Given the description of an element on the screen output the (x, y) to click on. 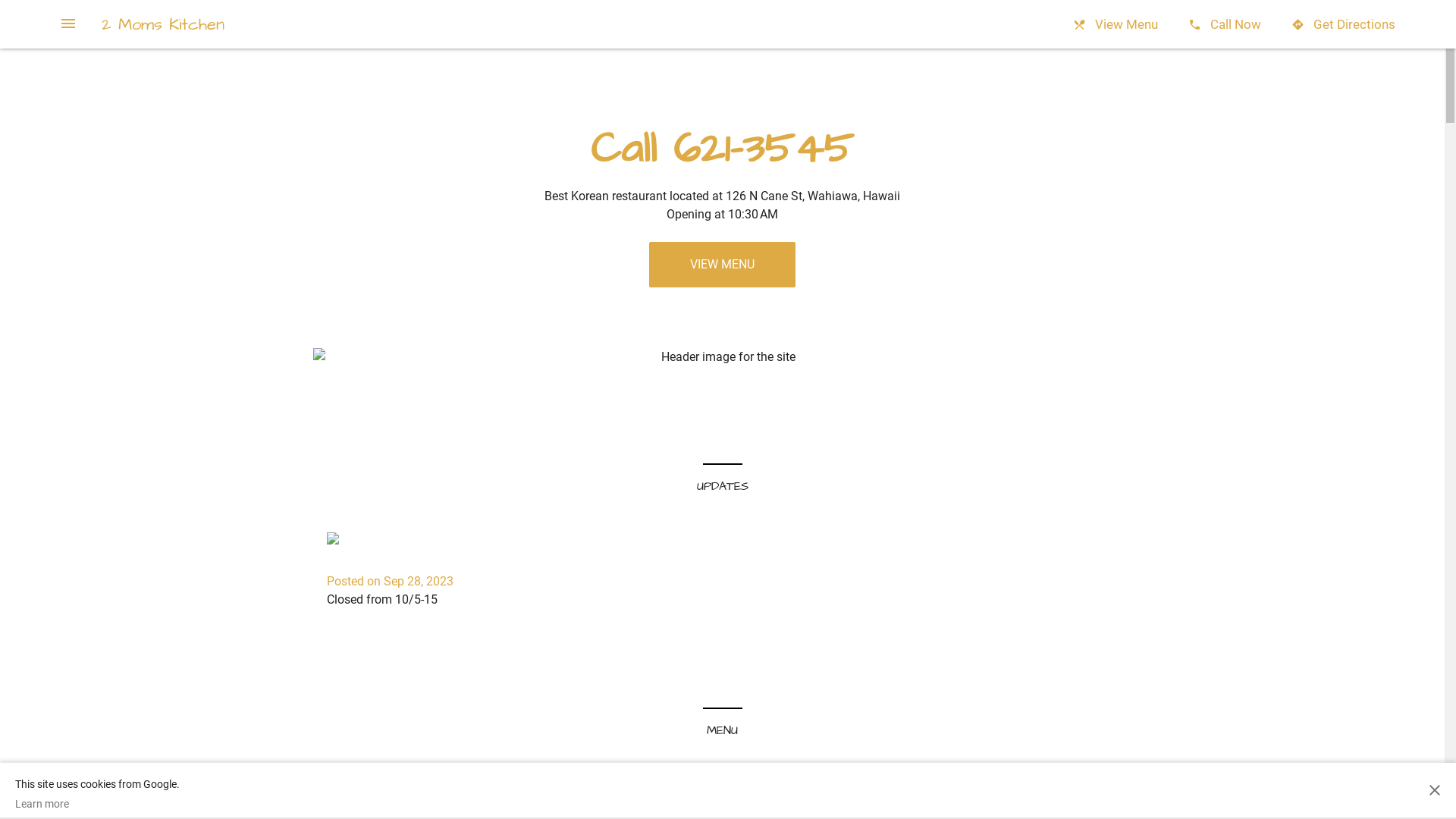
Learn more Element type: text (97, 803)
2 Moms Kitchen Element type: text (162, 23)
Posted on Sep 28, 2023 Element type: text (389, 581)
VIEW MENU Element type: text (722, 264)
